Given the description of an element on the screen output the (x, y) to click on. 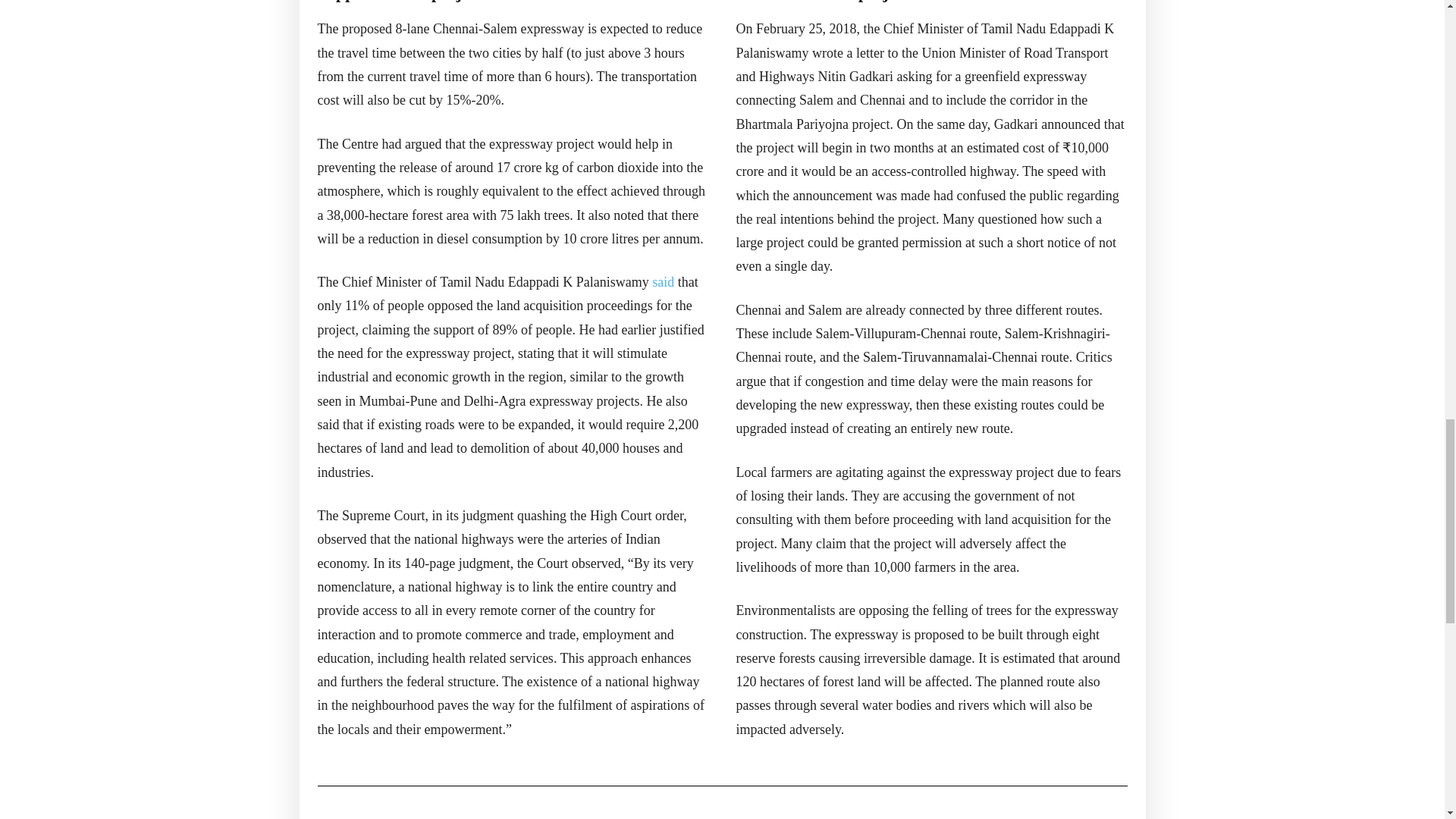
said (663, 281)
